Given the description of an element on the screen output the (x, y) to click on. 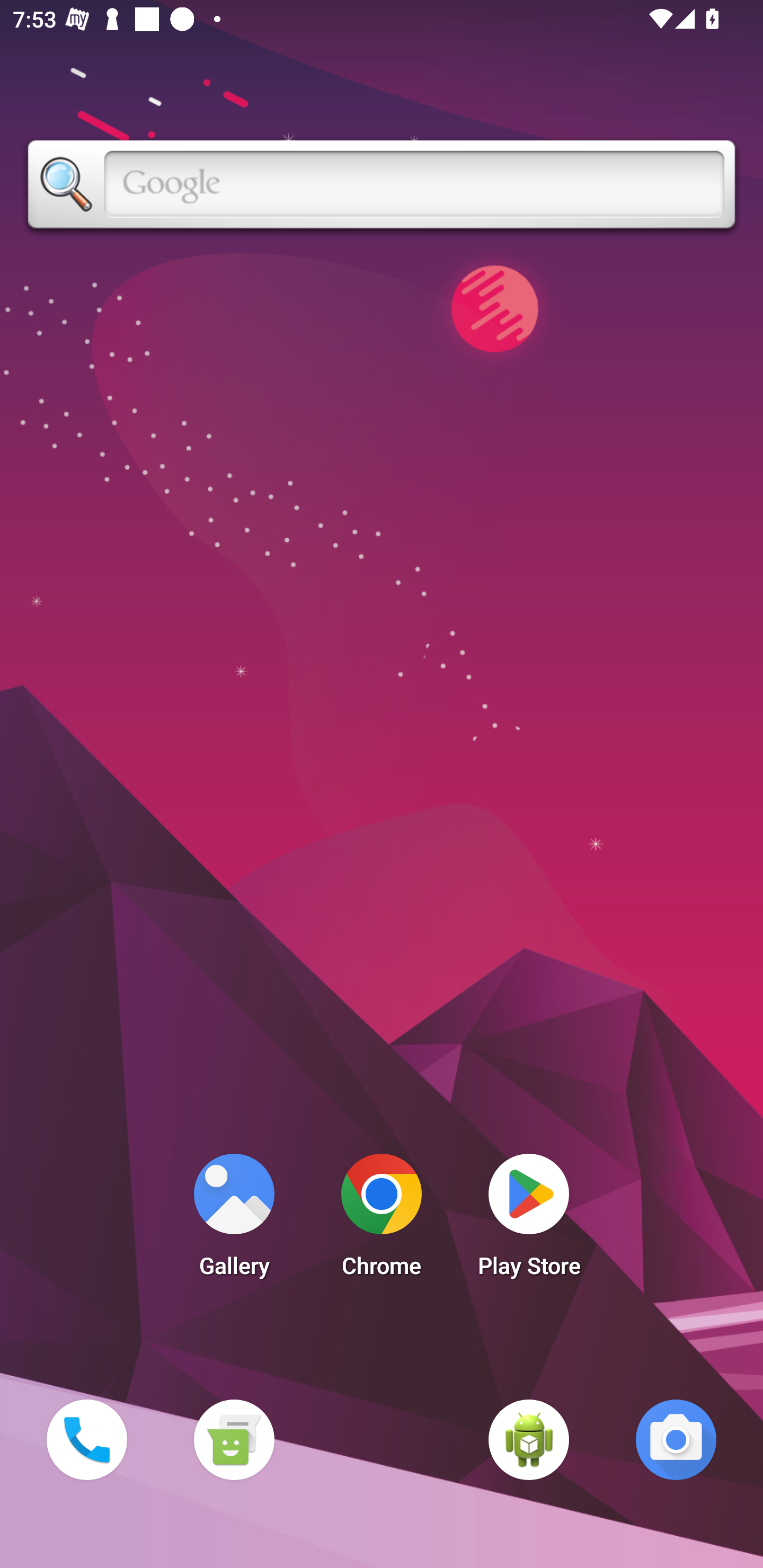
Gallery (233, 1220)
Chrome (381, 1220)
Play Store (528, 1220)
Phone (86, 1439)
Messaging (233, 1439)
WebView Browser Tester (528, 1439)
Camera (676, 1439)
